Given the description of an element on the screen output the (x, y) to click on. 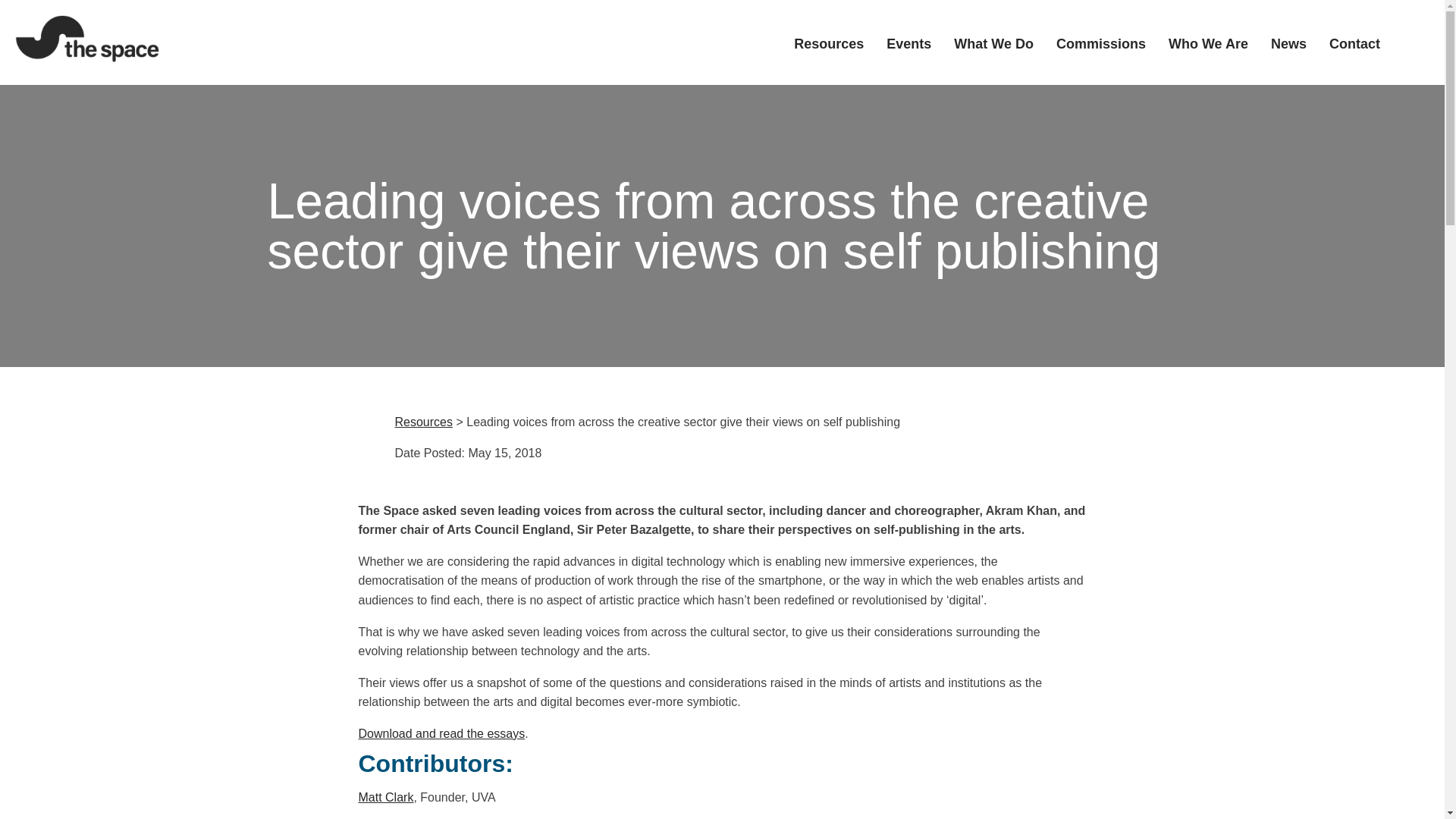
Contact (1354, 42)
Resources (829, 42)
Events (908, 42)
Resources (422, 421)
Who We Are (1208, 42)
Search Icon (1410, 42)
News (1288, 42)
Matt Clark (385, 797)
Download and read the essays (441, 733)
Commissions (1101, 42)
